Given the description of an element on the screen output the (x, y) to click on. 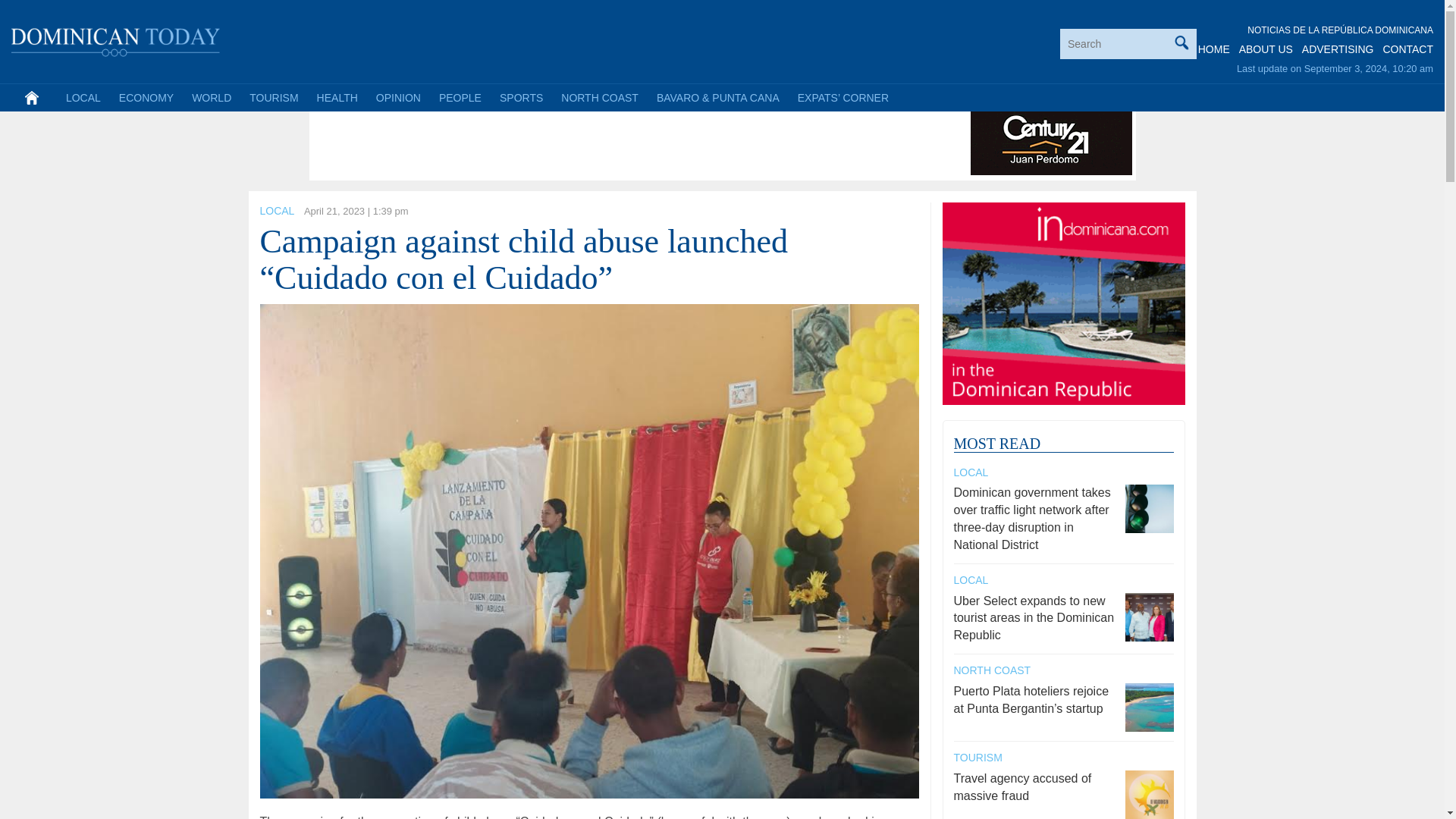
TOURISM (273, 97)
CONTACT (1406, 49)
HEALTH (336, 97)
NORTH COAST (599, 97)
ECONOMY (146, 97)
HOME (1214, 49)
LOCAL (83, 97)
Advertisement (589, 141)
Dominican Today News - Santo Domingo and Dominican Republic (116, 38)
SPORTS (520, 97)
